Given the description of an element on the screen output the (x, y) to click on. 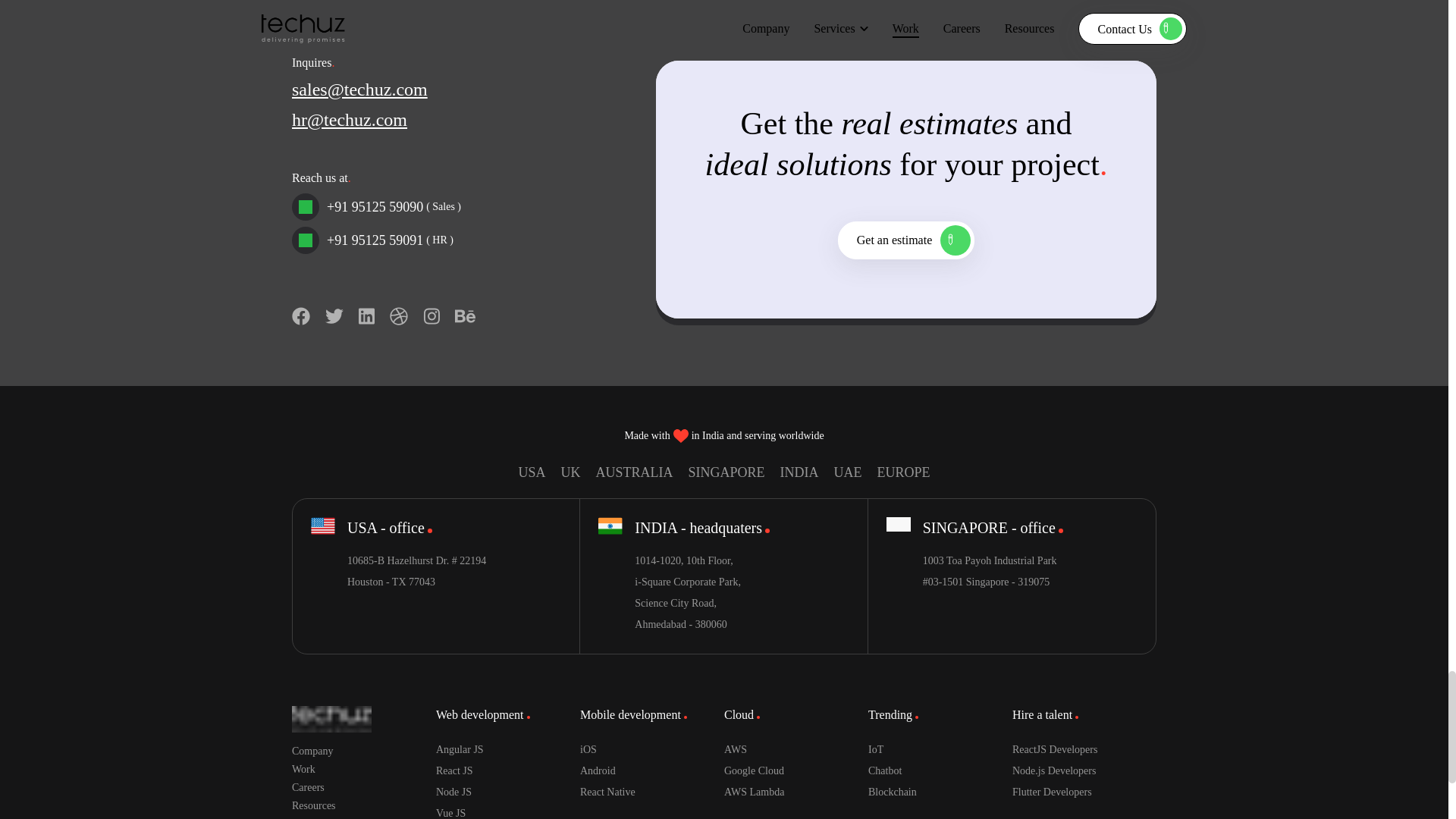
Android (651, 771)
Mobile development (633, 714)
Company (363, 751)
Get an estimate (906, 240)
Resources (363, 806)
React JS (507, 771)
Web development (482, 714)
Vue JS (507, 811)
Angular JS (507, 749)
iOS (651, 749)
